Given the description of an element on the screen output the (x, y) to click on. 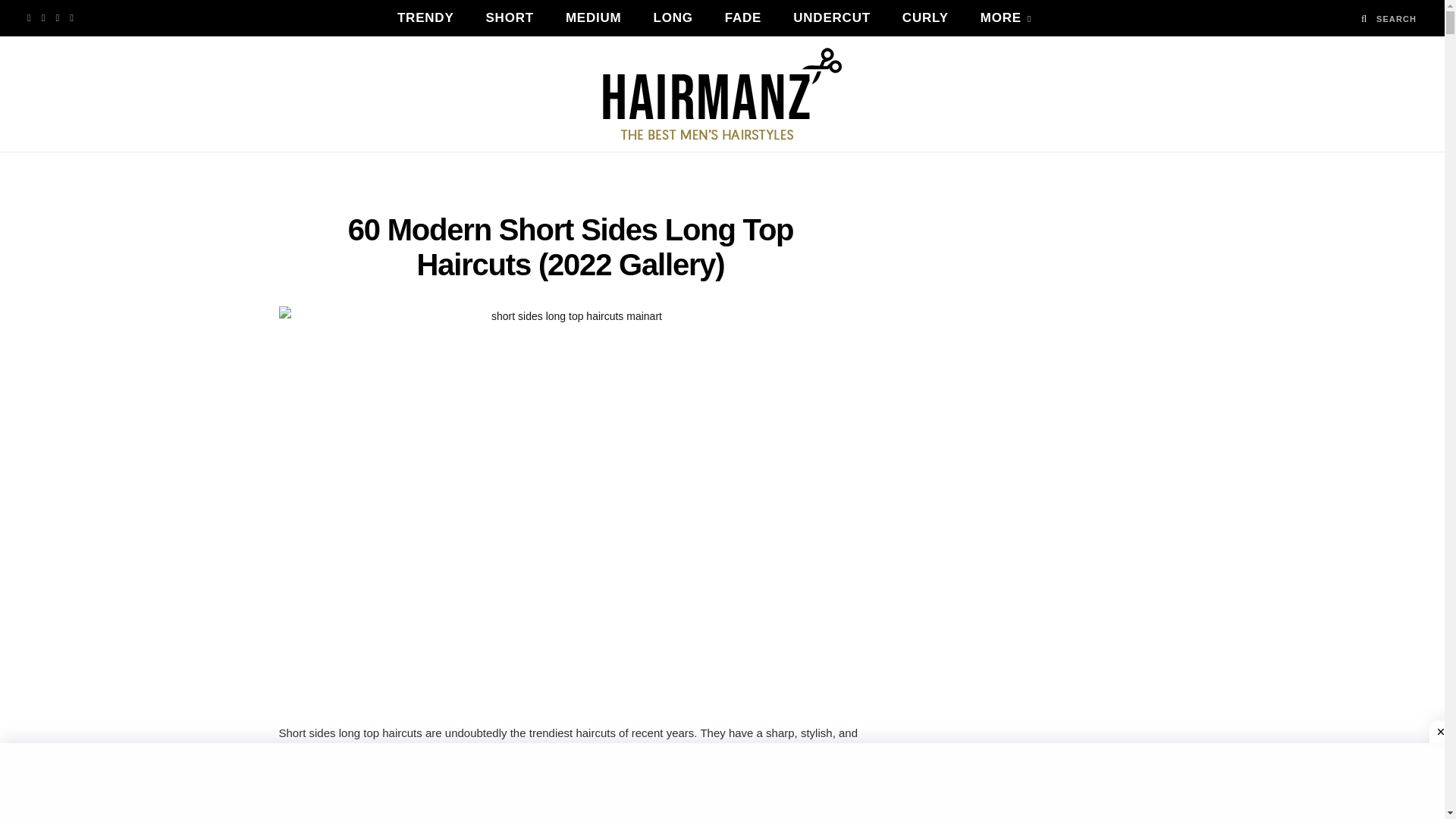
FADE (743, 18)
MEDIUM (593, 18)
TRENDY (425, 18)
CURLY (924, 18)
UNDERCUT (831, 18)
LONG (673, 18)
Hairmanz (721, 93)
MORE (1004, 18)
SHORT (510, 18)
